Given the description of an element on the screen output the (x, y) to click on. 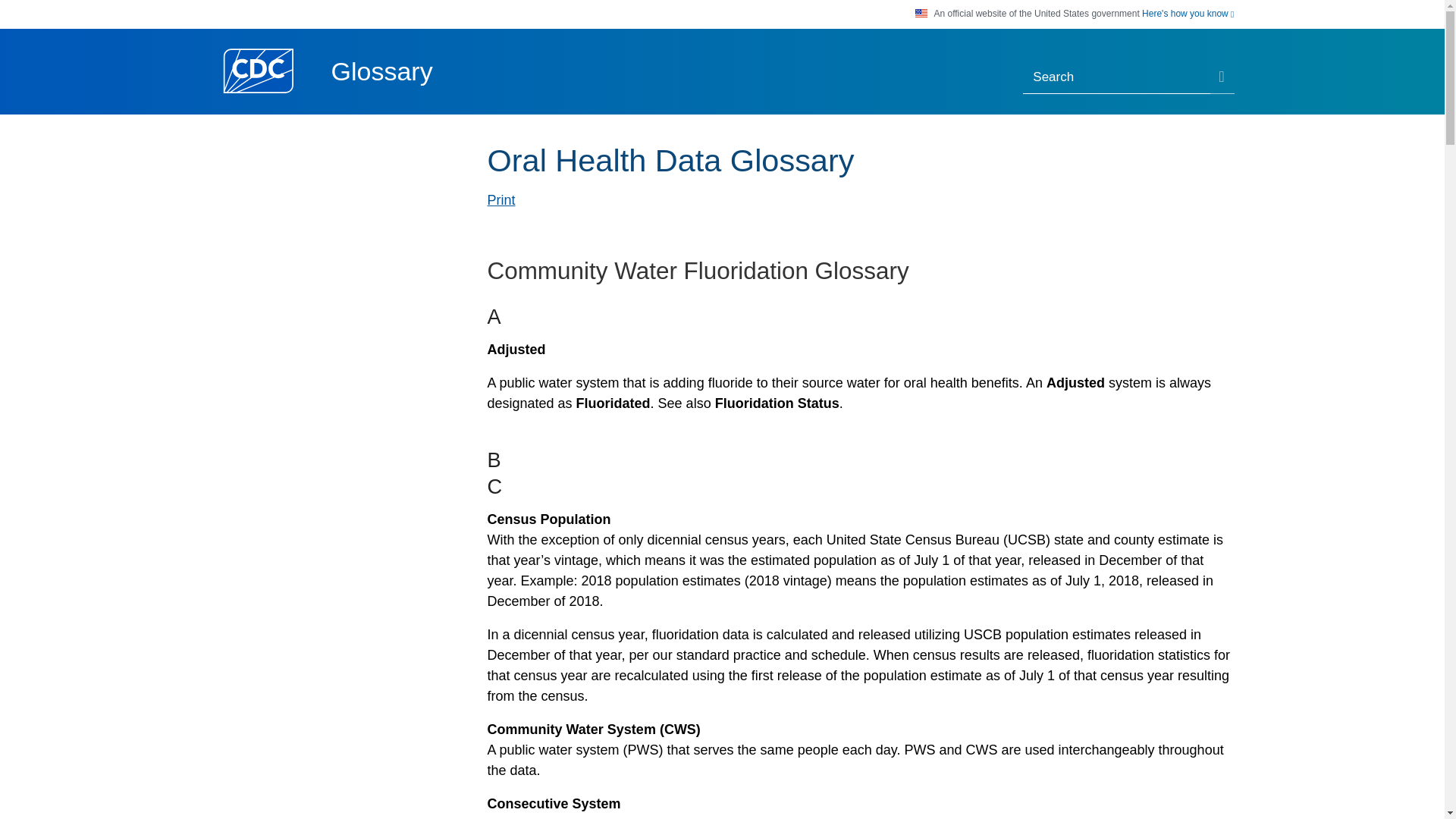
Here's how you know (1187, 14)
Print (500, 200)
Submit (1221, 78)
